Given the description of an element on the screen output the (x, y) to click on. 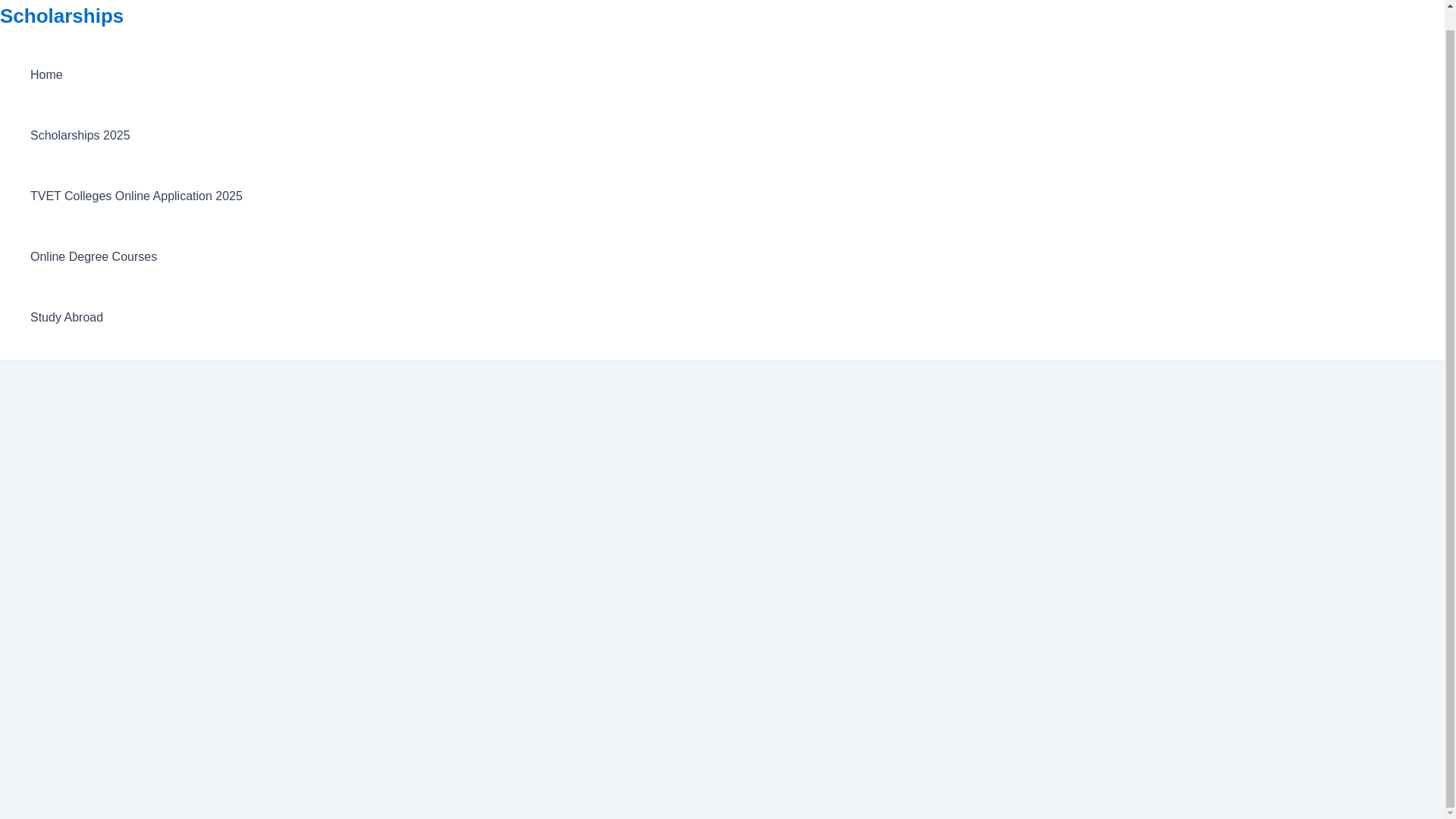
Scholarships (61, 15)
TVET Colleges Online Application 2025 (136, 196)
Scholarships 2025 (136, 135)
Home (136, 75)
Study Abroad (136, 317)
Online Degree Courses (136, 256)
